Given the description of an element on the screen output the (x, y) to click on. 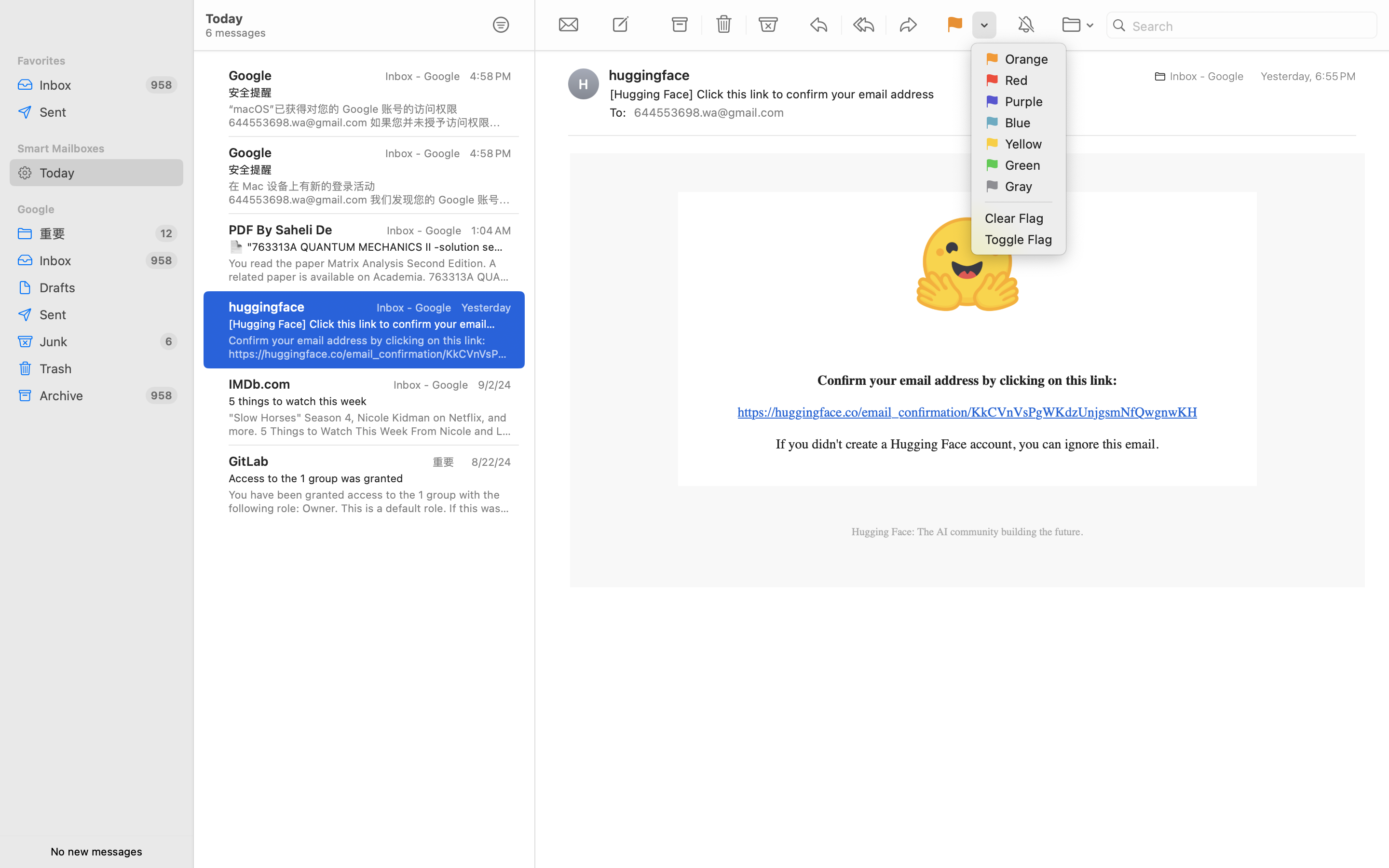
Access to the 1 group was granted Element type: AXStaticText (365, 478)
Sent Element type: AXStaticText (107, 111)
Drafts Element type: AXStaticText (107, 287)
重要 Element type: AXStaticText (446, 461)
Inbox Element type: AXStaticText (88, 84)
